Given the description of an element on the screen output the (x, y) to click on. 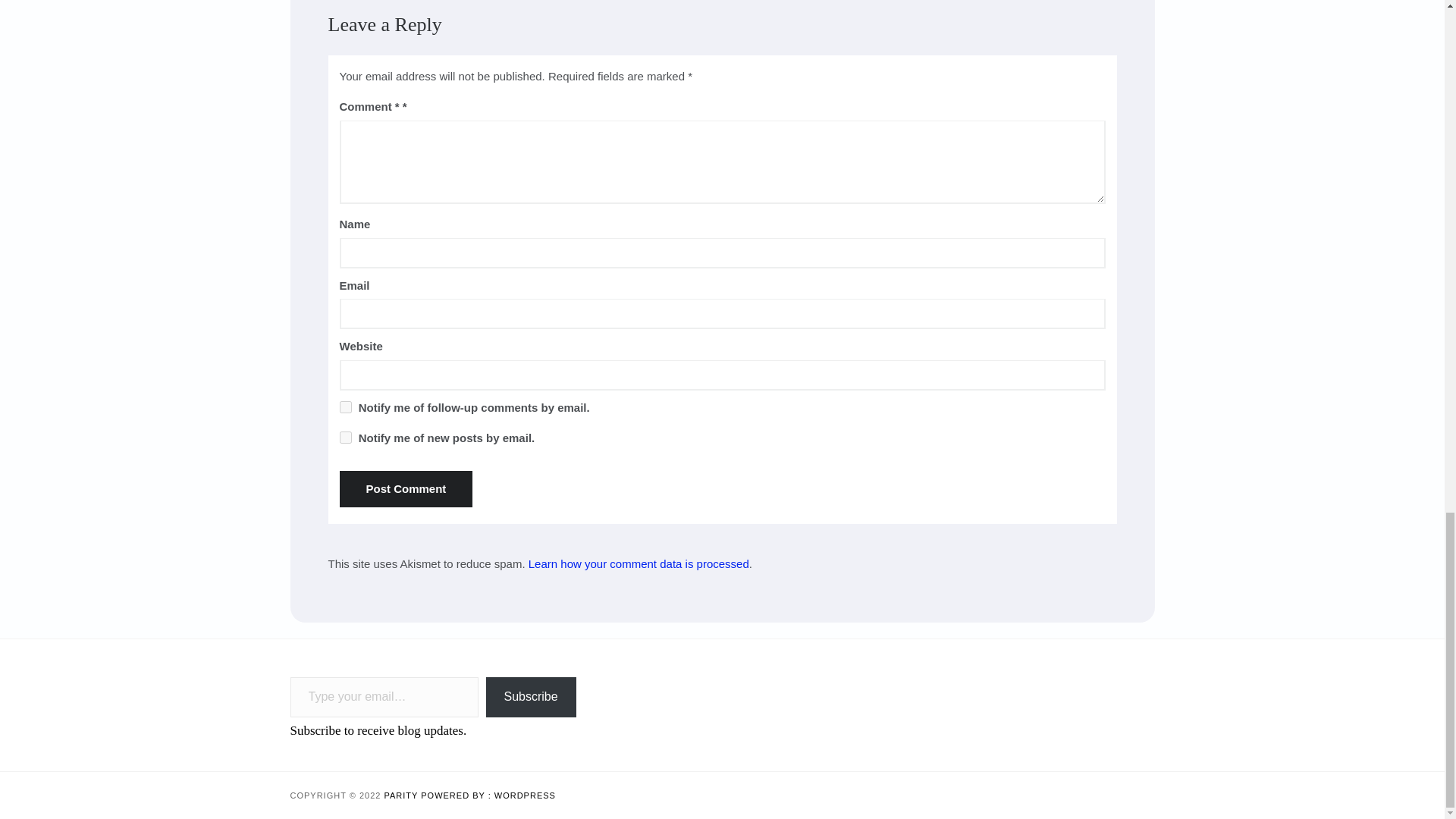
Please fill in this field. (383, 697)
subscribe (345, 407)
subscribe (345, 437)
Post Comment (406, 488)
